Given the description of an element on the screen output the (x, y) to click on. 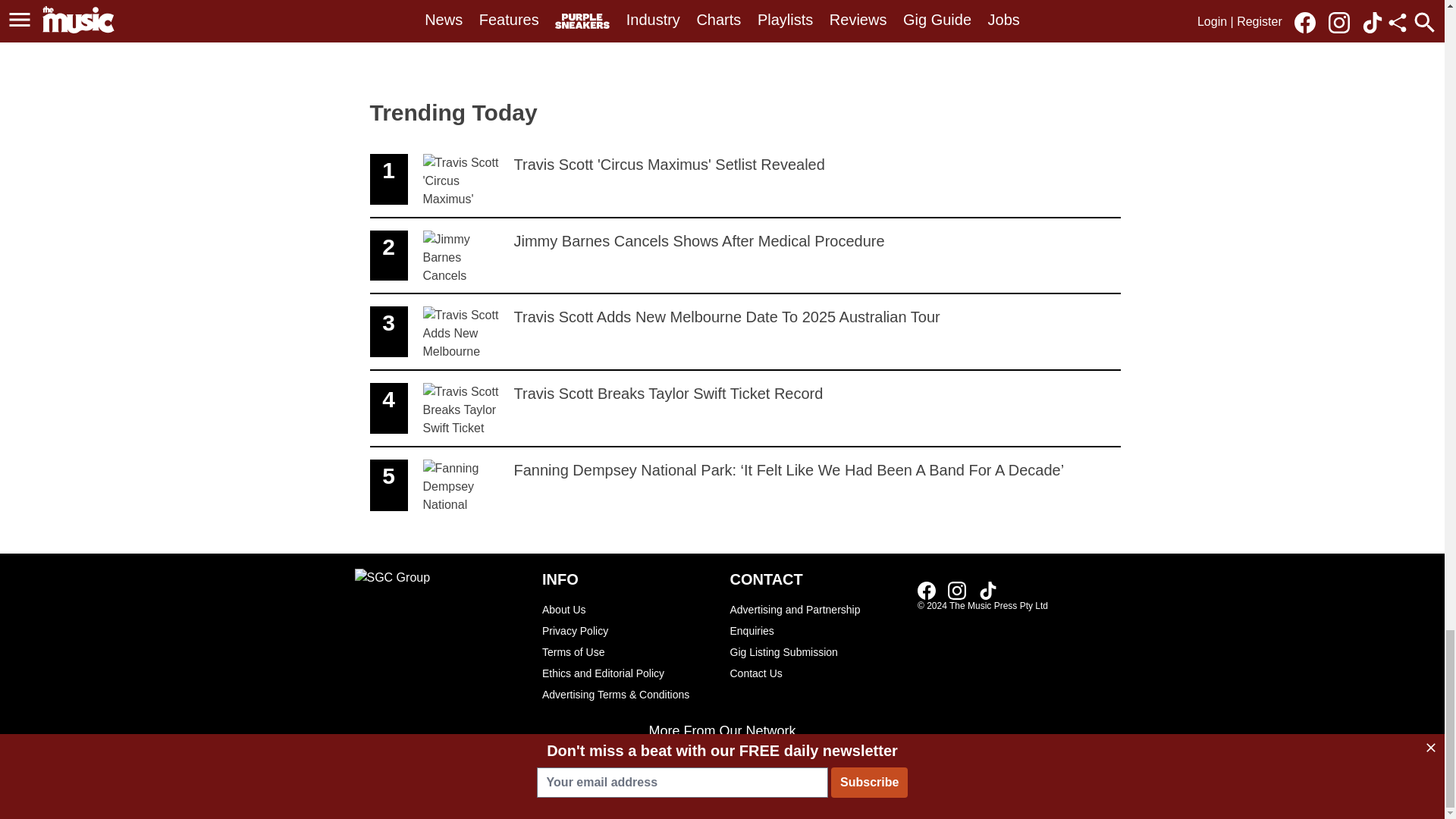
About Us (627, 608)
Gig Listing Submission (815, 651)
Contact Us (745, 179)
Link to our TikTok (815, 672)
Ethics and Editorial Policy (987, 590)
Terms of Use (627, 672)
Privacy Policy (627, 651)
Link to our Facebook (627, 630)
